Given the description of an element on the screen output the (x, y) to click on. 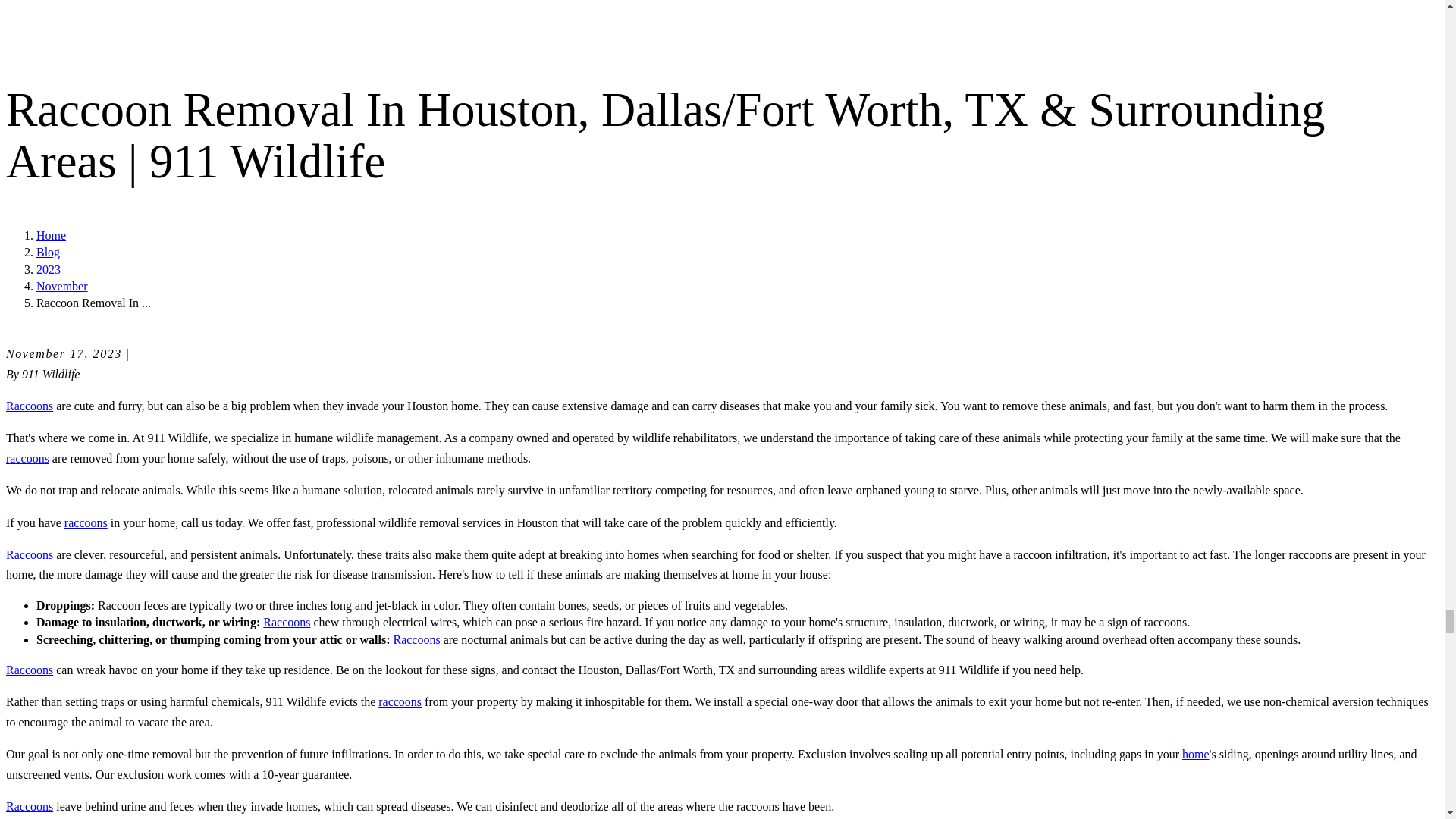
Go Home (50, 235)
